Given the description of an element on the screen output the (x, y) to click on. 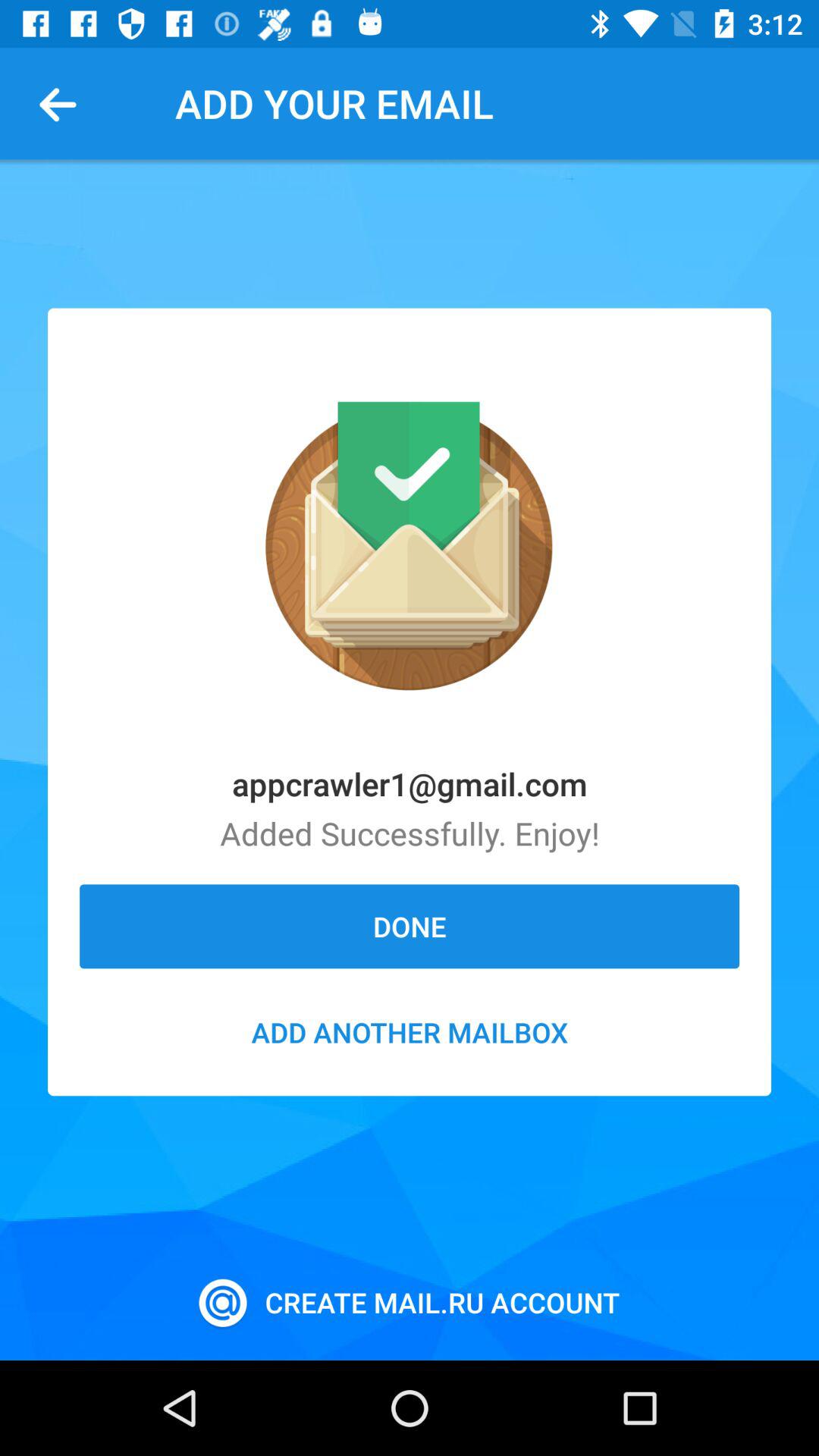
tap item to the left of add your email app (63, 103)
